Given the description of an element on the screen output the (x, y) to click on. 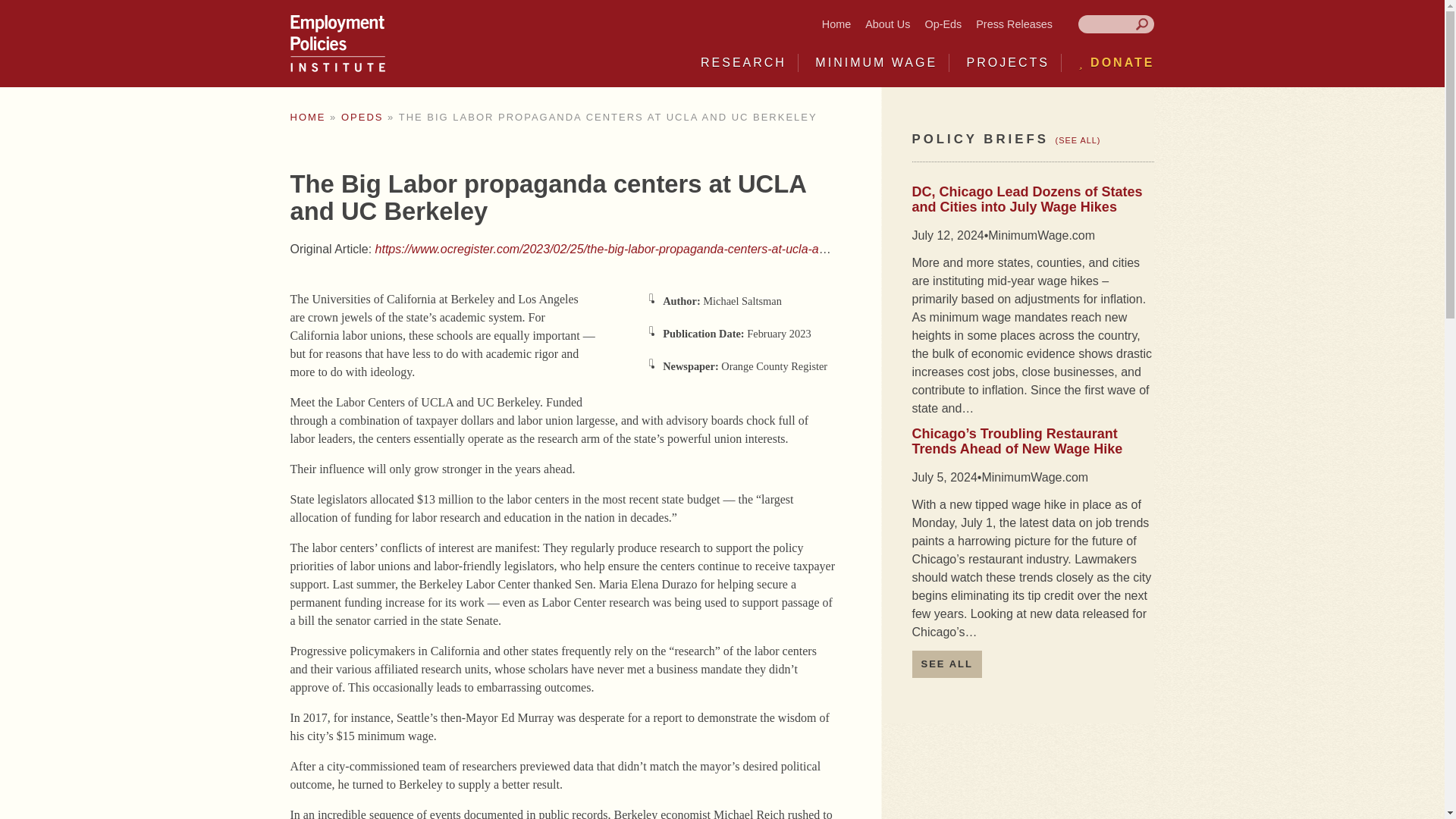
Home (836, 24)
Press Releases (1013, 24)
MINIMUM WAGE (876, 62)
RESEARCH (743, 62)
Op-Eds (942, 24)
DONATE (1116, 62)
SEE ALL (946, 664)
OPEDS (362, 116)
HOME (306, 116)
About Us (887, 24)
PROJECTS (1007, 62)
